Given the description of an element on the screen output the (x, y) to click on. 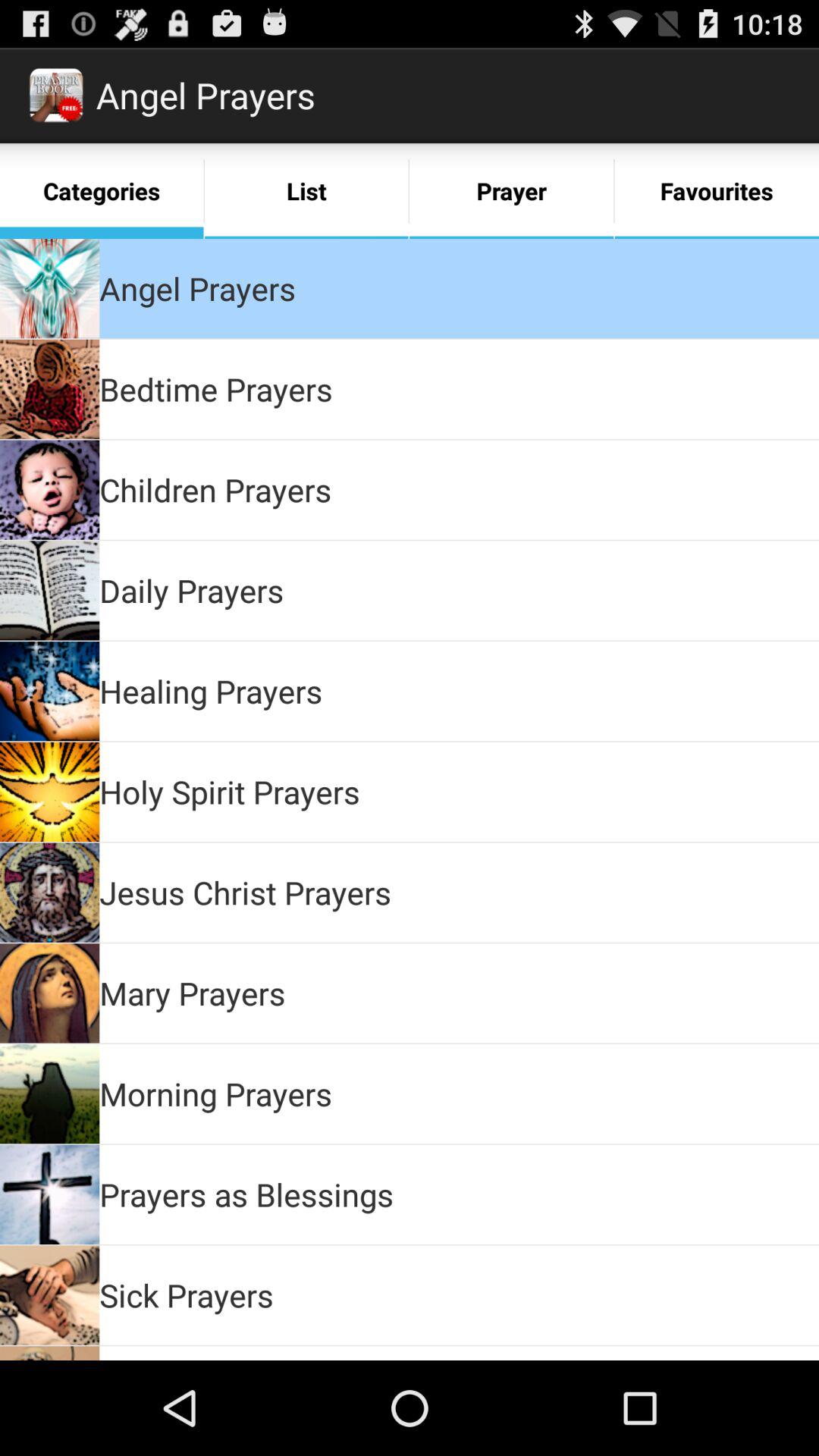
click healing prayers icon (210, 690)
